Given the description of an element on the screen output the (x, y) to click on. 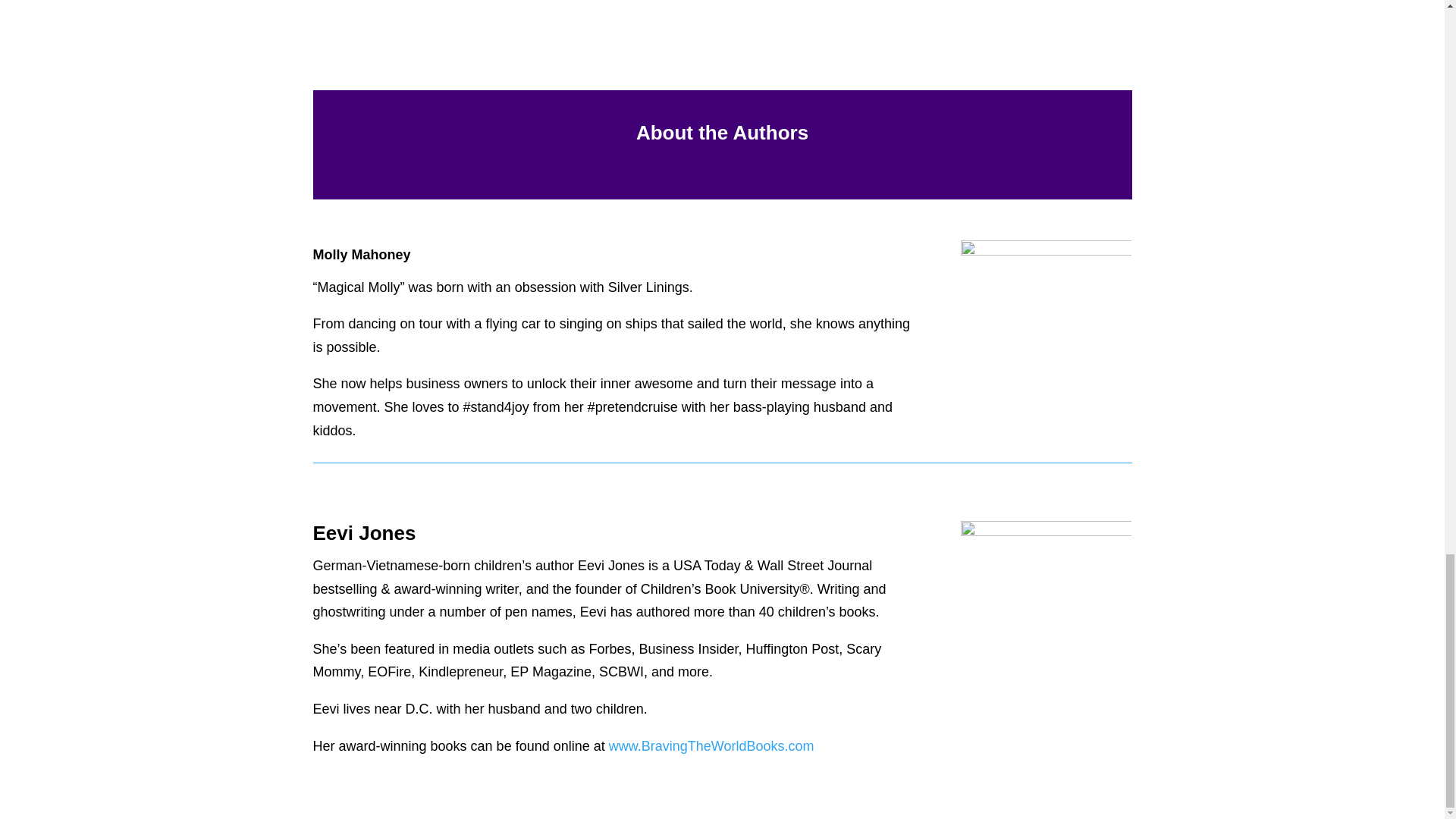
www.BravingTheWorldBooks.com (710, 745)
Molly Mahoney (1045, 295)
Eevi Jones (1045, 606)
